Given the description of an element on the screen output the (x, y) to click on. 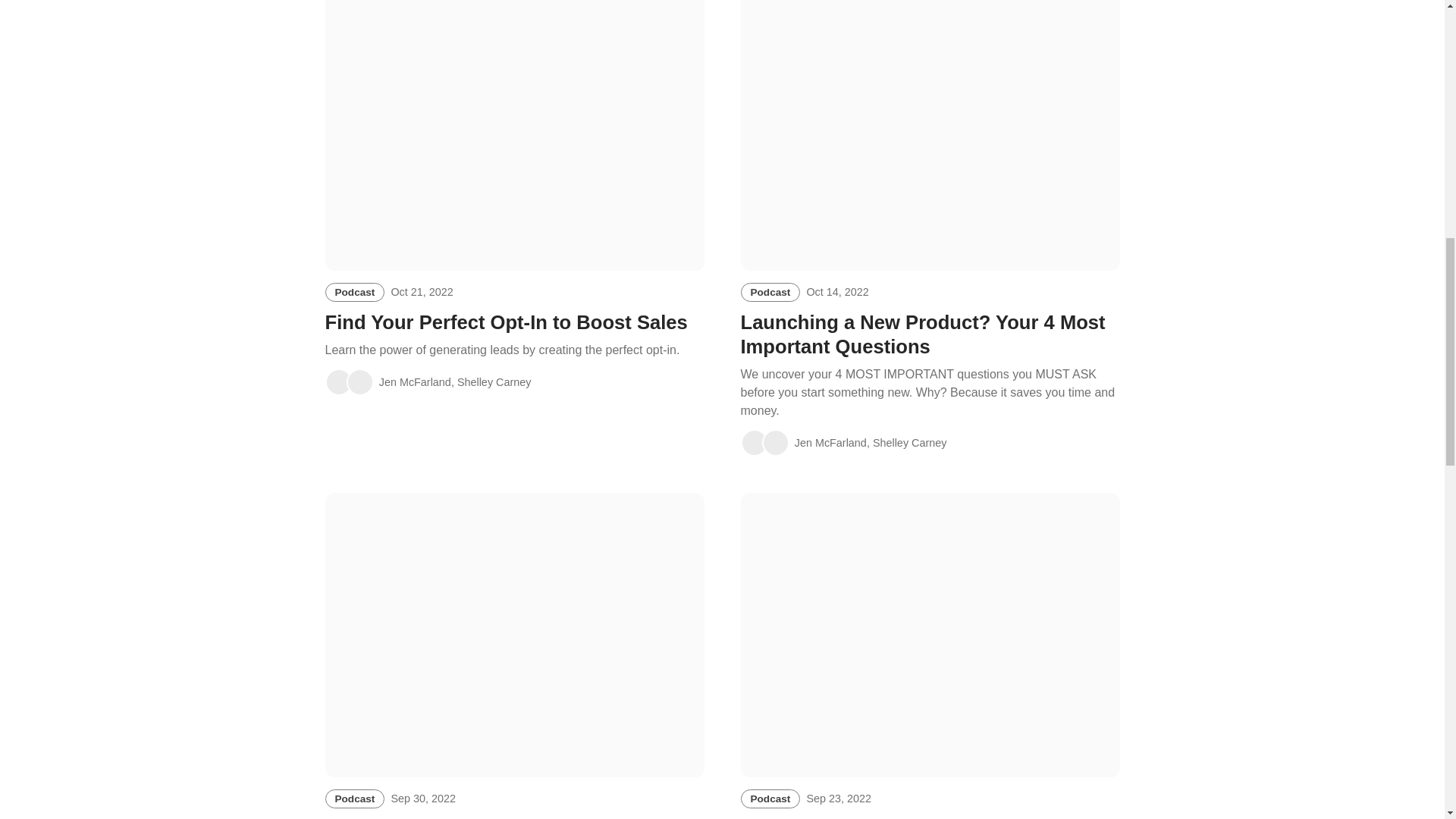
Jen McFarland (338, 381)
Jen McFarland (753, 442)
Shelley Carney (775, 442)
Shelley Carney (359, 381)
